Given the description of an element on the screen output the (x, y) to click on. 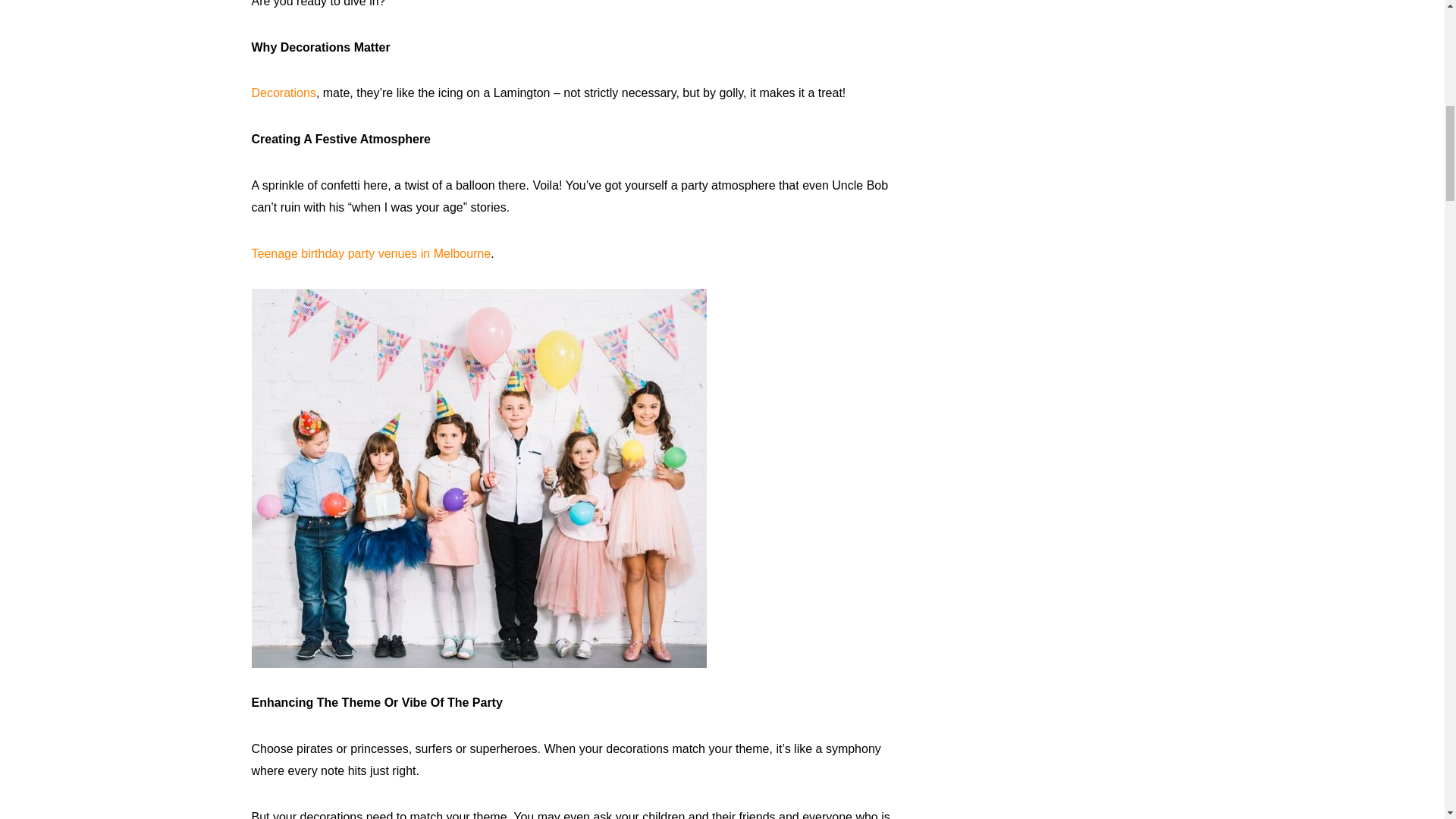
Teenage birthday party venues in Melbourne (371, 253)
Decorations (283, 92)
